Given the description of an element on the screen output the (x, y) to click on. 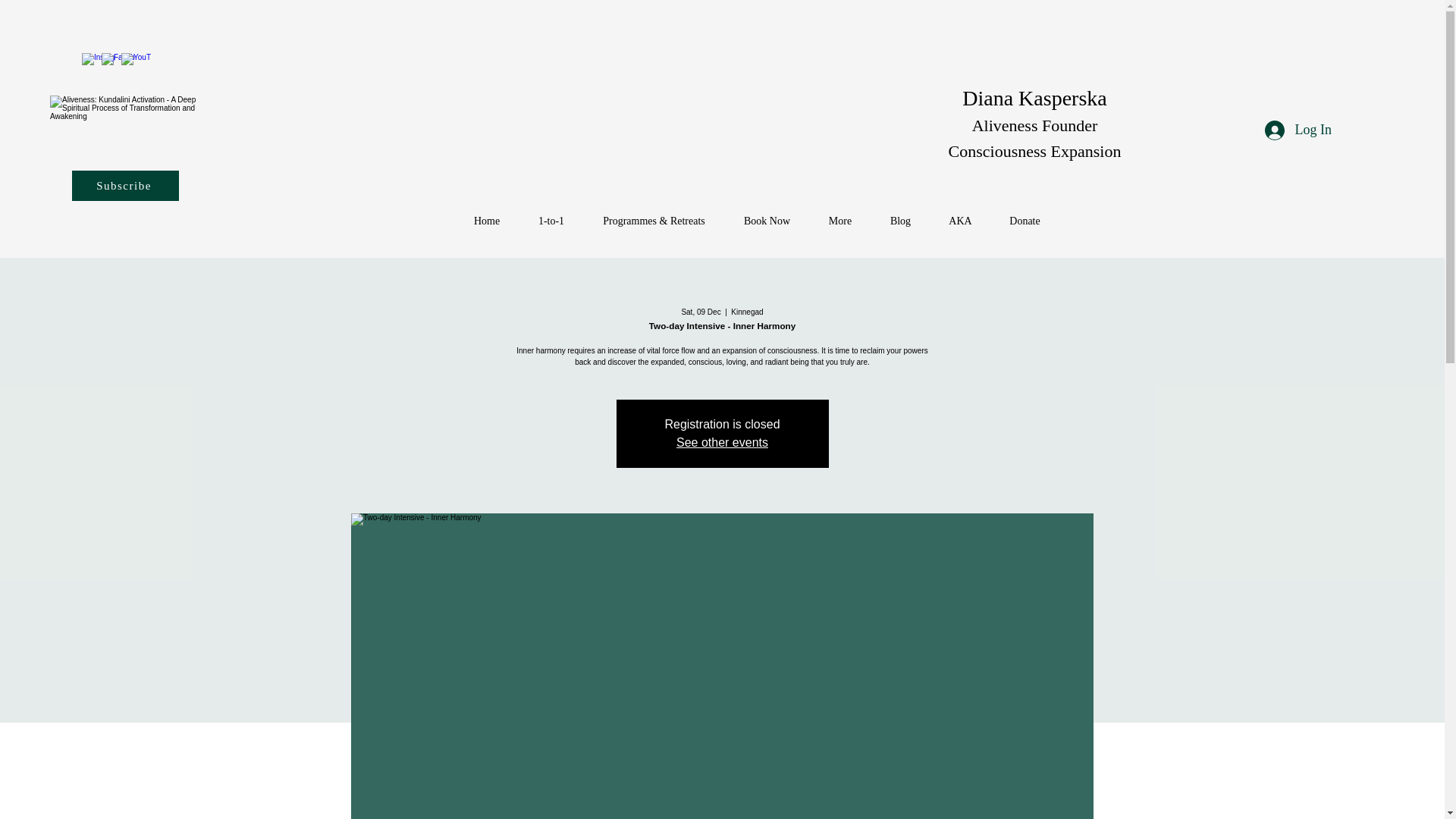
Subscribe (125, 185)
Donate (1024, 221)
Blog (900, 221)
AKA (960, 221)
Home (486, 221)
1-to-1 (550, 221)
Log In (1297, 130)
See other events (722, 441)
